Given the description of an element on the screen output the (x, y) to click on. 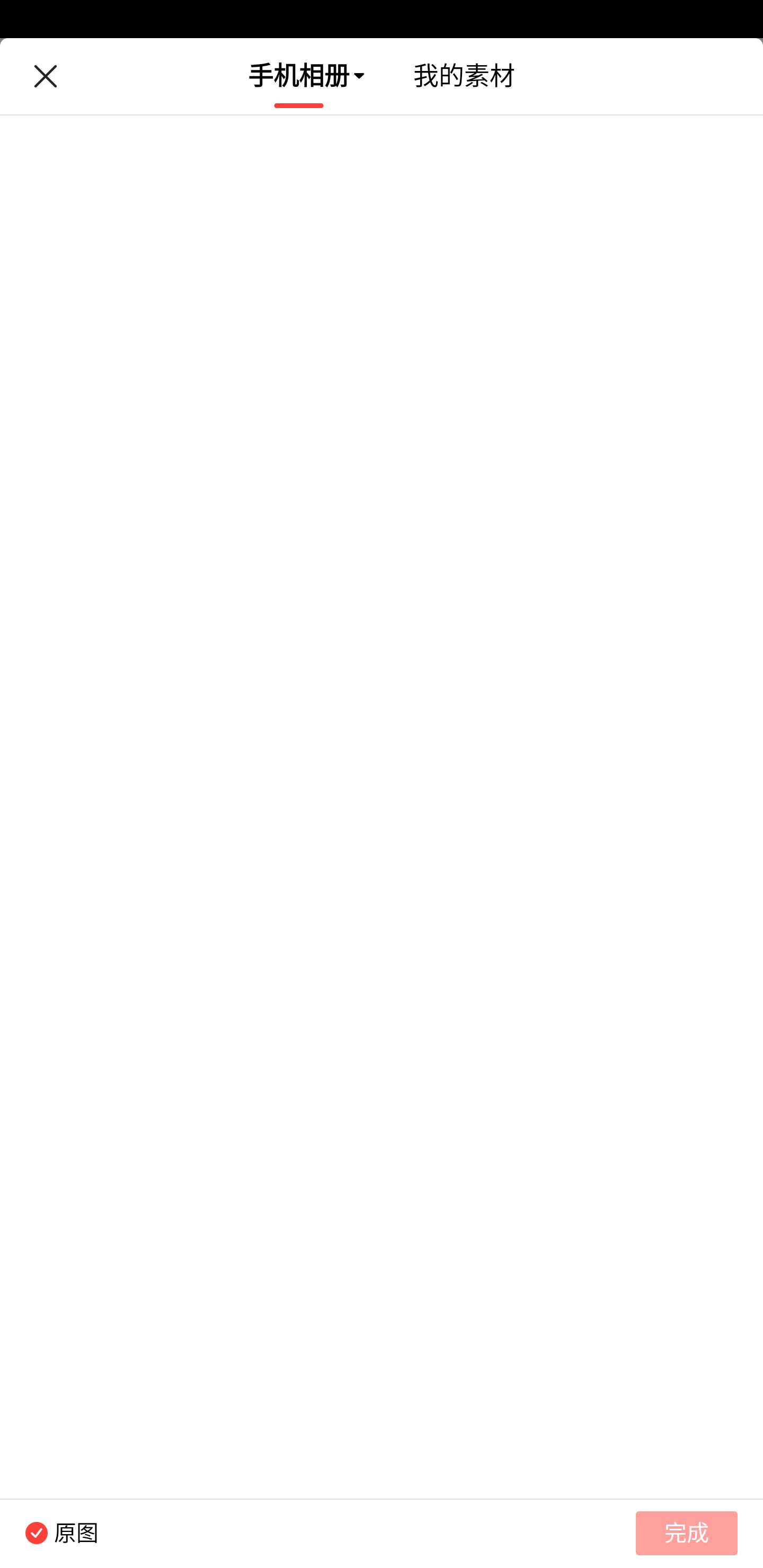
返回 (44, 75)
手机相册 (298, 75)
我的素材 (464, 75)
已选中，原图， 原图 完成 完成 (381, 1533)
已选中，原图， 原图 (49, 1533)
